Given the description of an element on the screen output the (x, y) to click on. 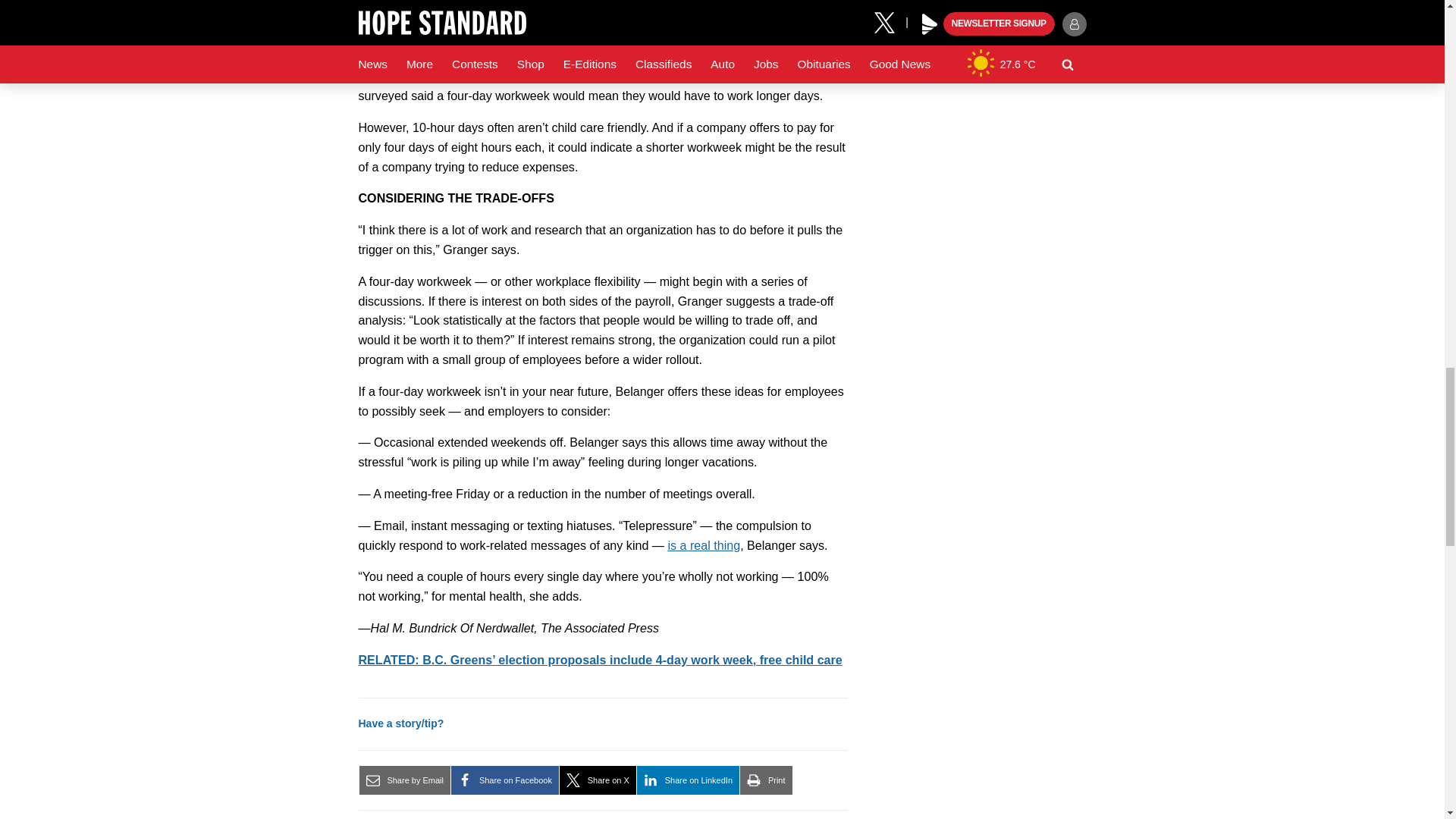
related story (599, 659)
